Given the description of an element on the screen output the (x, y) to click on. 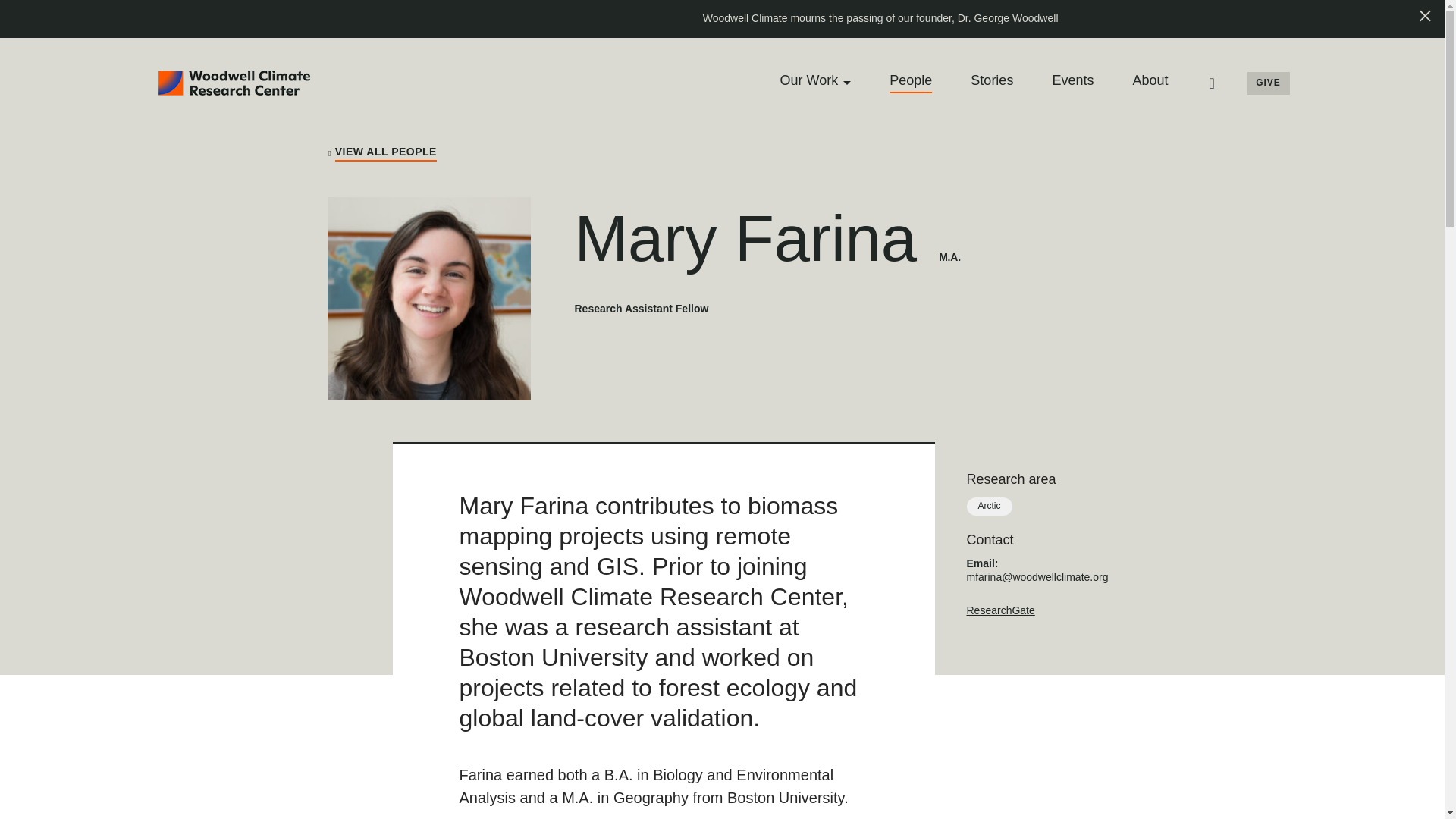
GIVE (1267, 83)
About (1149, 80)
Our Work (809, 80)
ResearchGate (999, 610)
Events (1072, 80)
Stories (992, 80)
Arctic (988, 506)
VIEW ALL PEOPLE (381, 153)
People (910, 80)
